Given the description of an element on the screen output the (x, y) to click on. 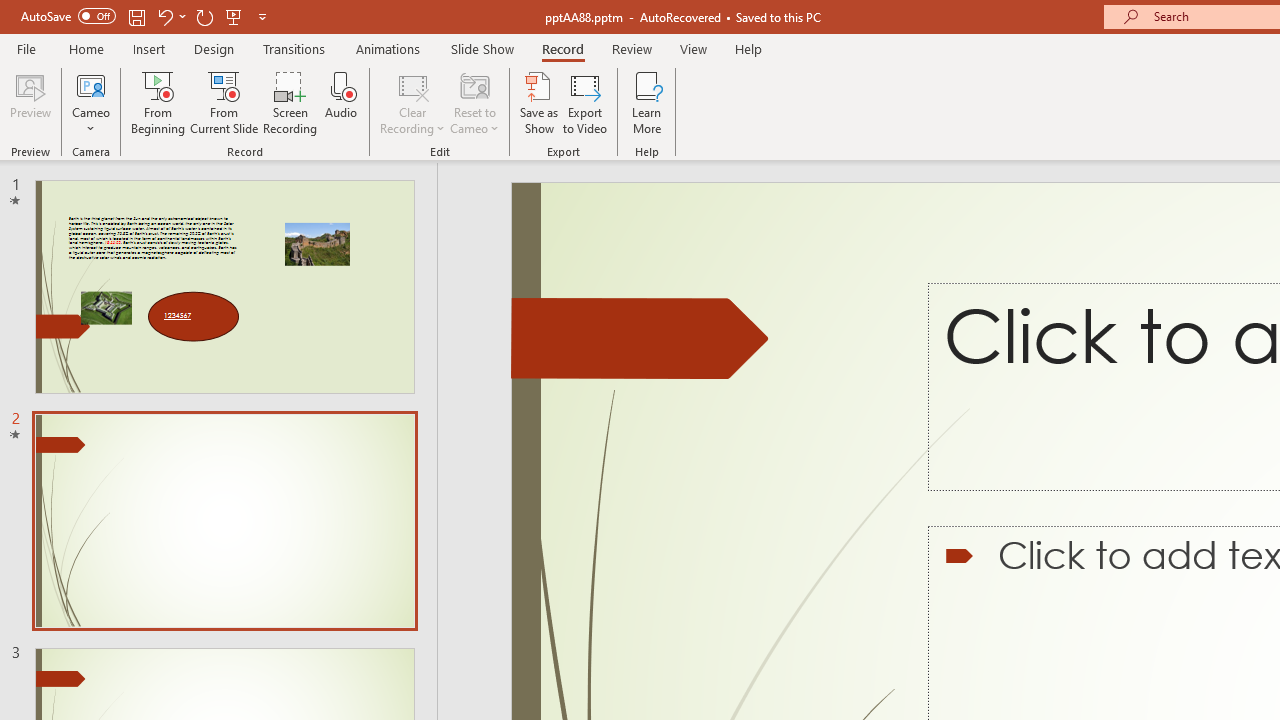
From Beginning... (158, 102)
